Given the description of an element on the screen output the (x, y) to click on. 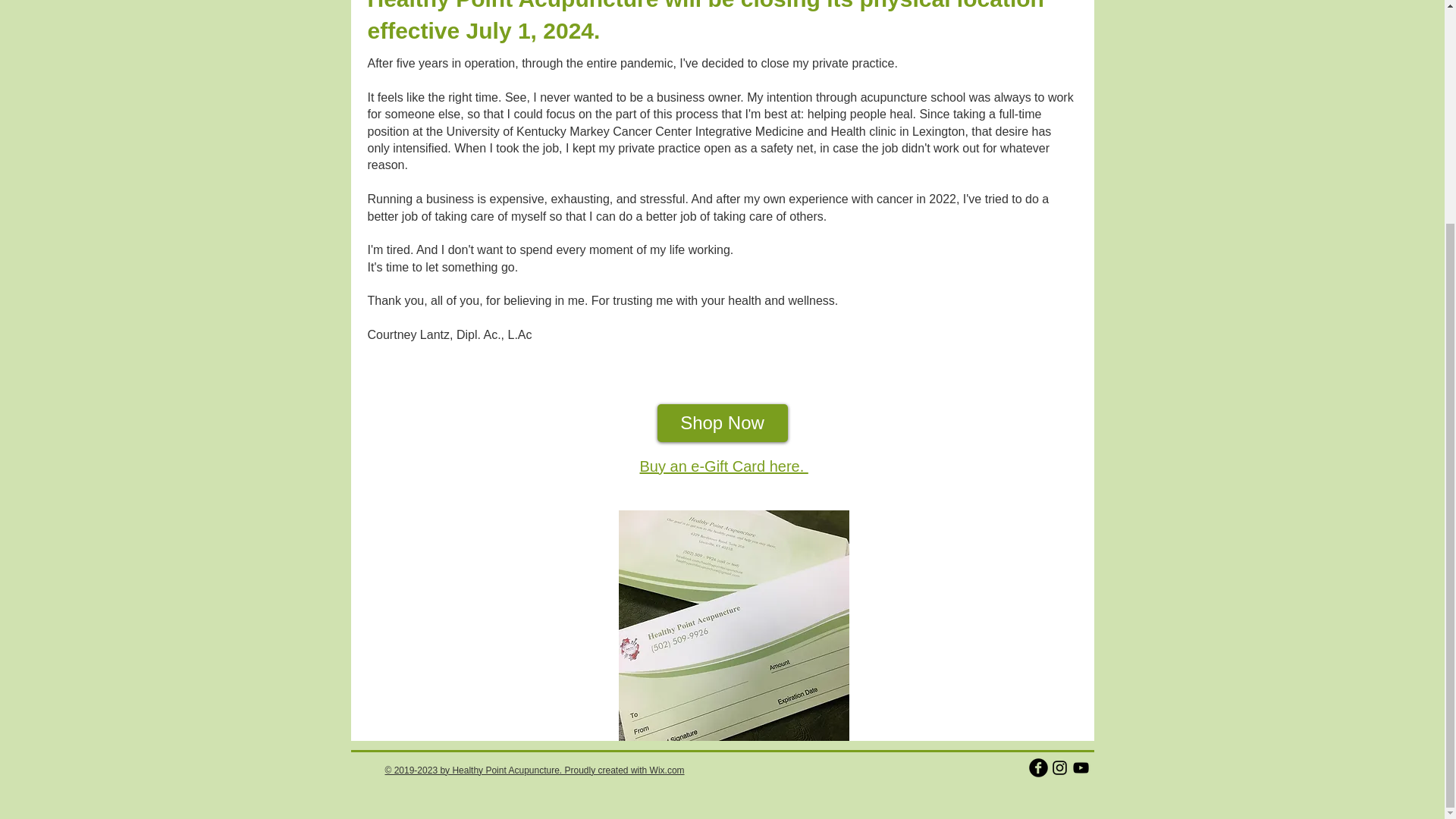
Shop Now (721, 423)
Gift Certificates.jpg (733, 625)
Buy an e-Gift Card here.  (724, 466)
